Given the description of an element on the screen output the (x, y) to click on. 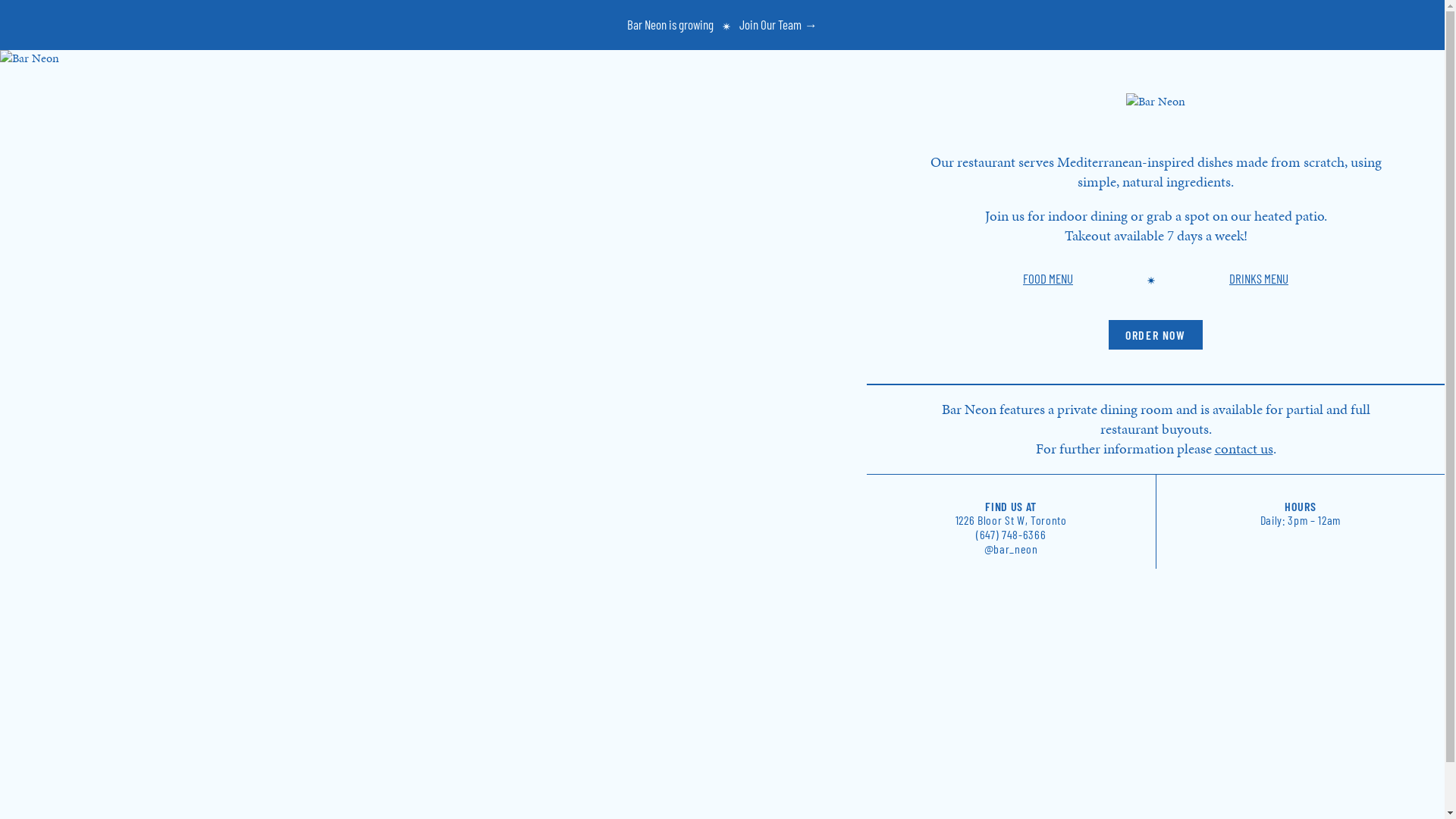
@bar_neon Element type: text (1011, 548)
FOOD MENU Element type: text (1047, 277)
DRINKS MENU Element type: text (1258, 277)
contact us Element type: text (1243, 448)
ORDER NOW Element type: text (1154, 334)
